Given the description of an element on the screen output the (x, y) to click on. 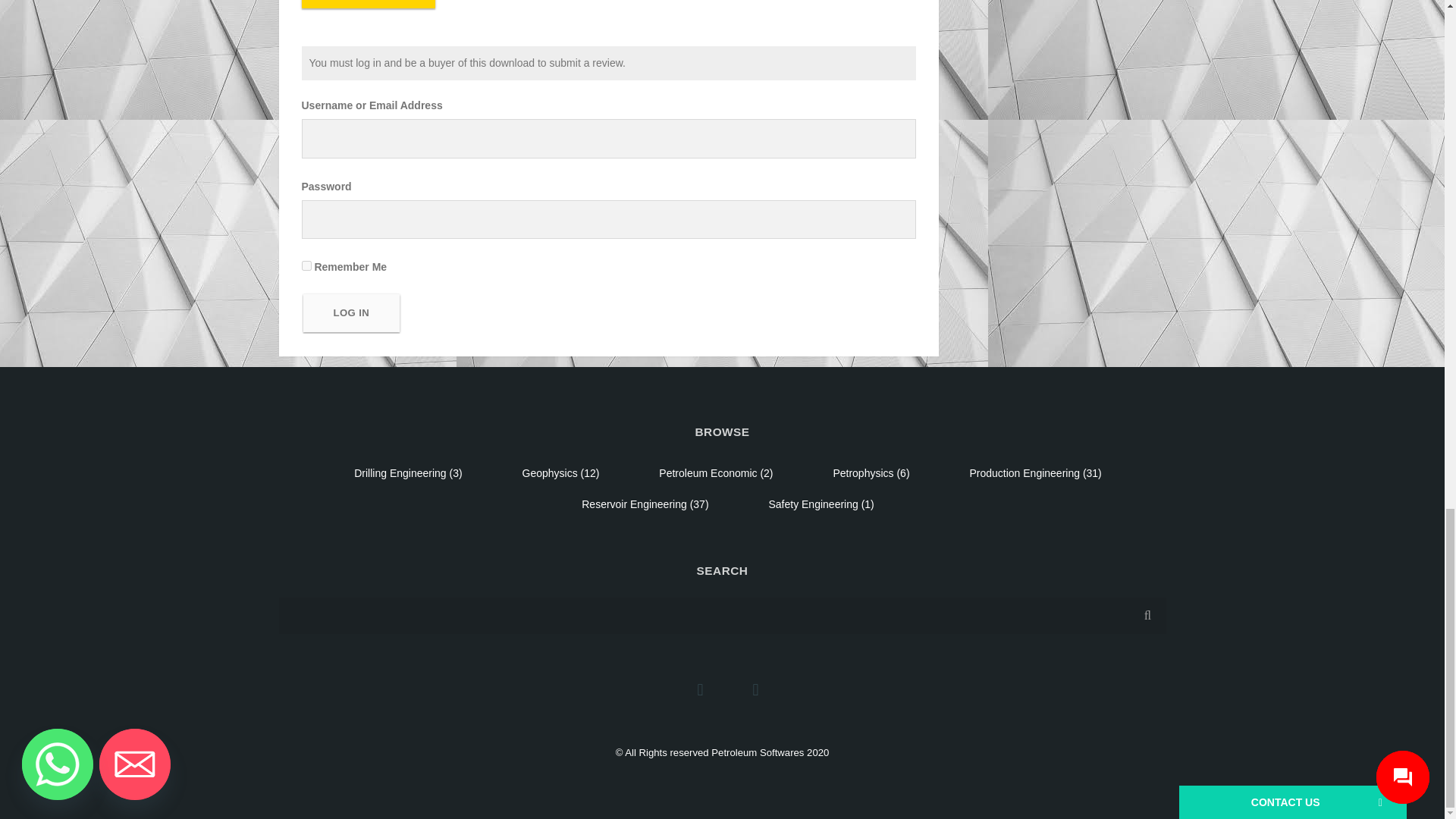
Petroleum Economic (708, 472)
Drilling Engineering (399, 472)
forever (306, 266)
Reservoir Engineering (633, 503)
Petrophysics (862, 472)
Log In (351, 313)
Geophysics (548, 472)
Search (1147, 615)
Search (1147, 615)
Safety Engineering (812, 503)
Production Engineering (1024, 472)
Log In (351, 313)
